Given the description of an element on the screen output the (x, y) to click on. 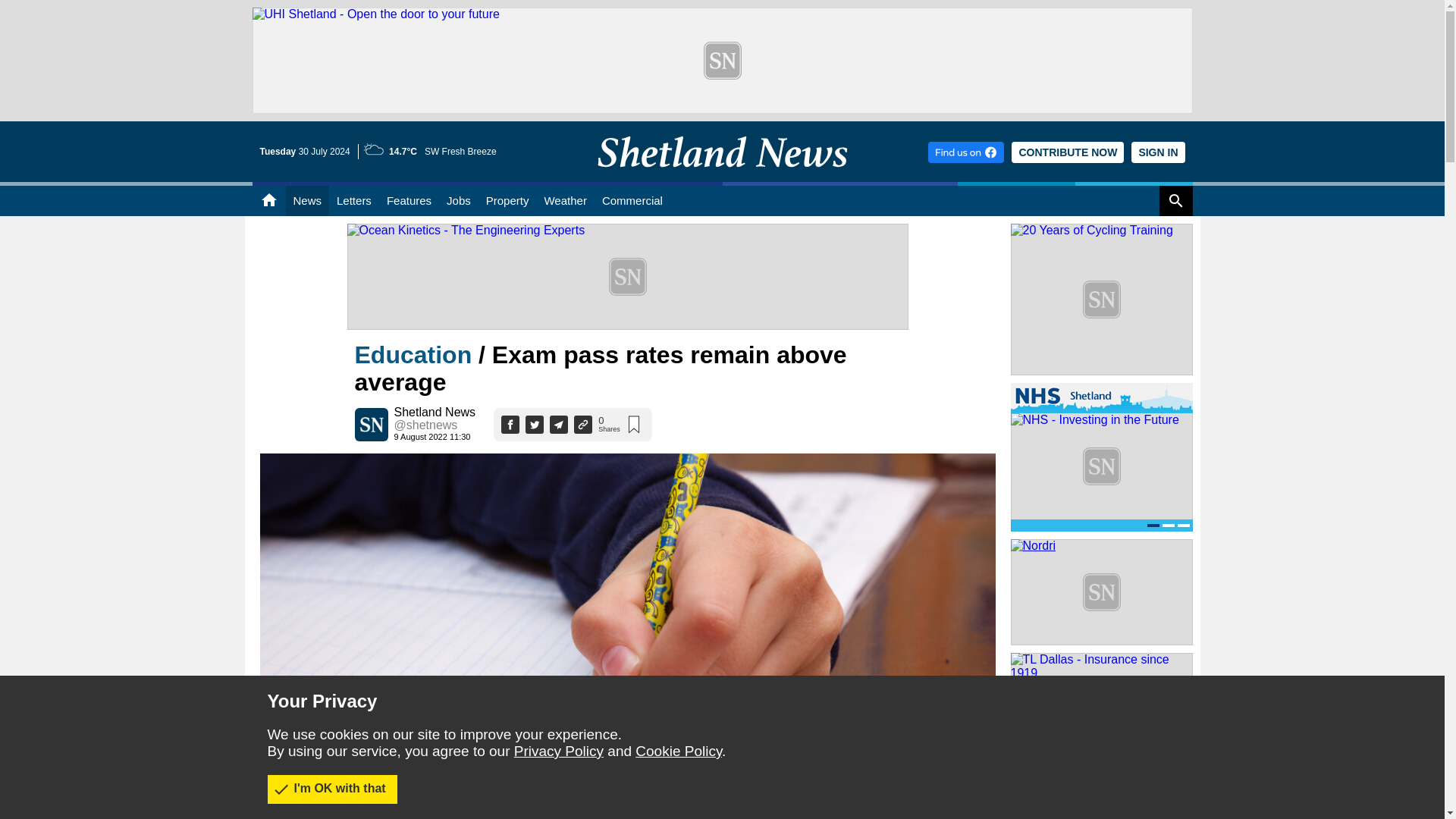
Find us on Facebook (966, 151)
Shetland News Login (1158, 151)
News (307, 200)
News (307, 200)
SIGN IN (1158, 151)
Support Shetland News (1067, 151)
Home (268, 200)
CONTRIBUTE NOW (1067, 151)
Shetland News Home (721, 177)
UHI Shetland - Open the door to your future (721, 13)
